Given the description of an element on the screen output the (x, y) to click on. 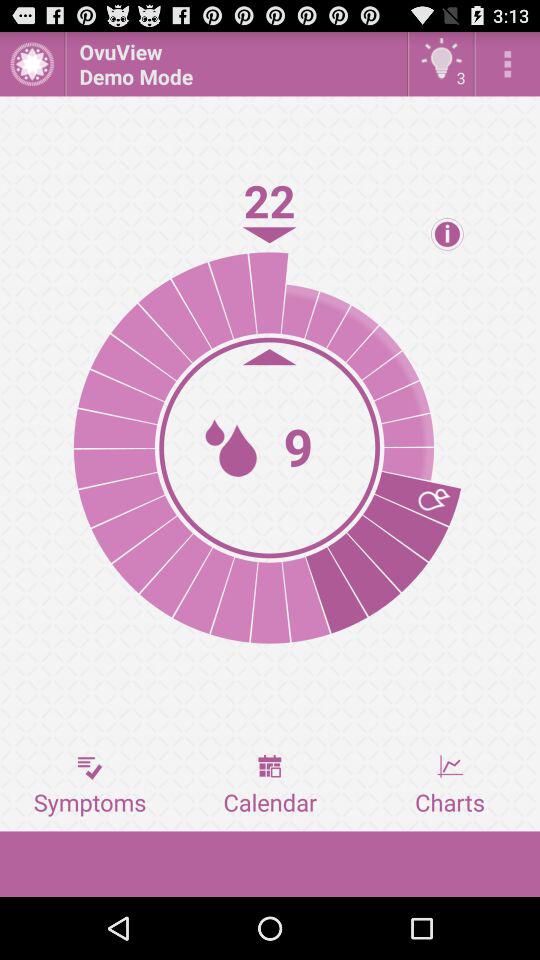
open the icon next to the symptoms icon (270, 785)
